Given the description of an element on the screen output the (x, y) to click on. 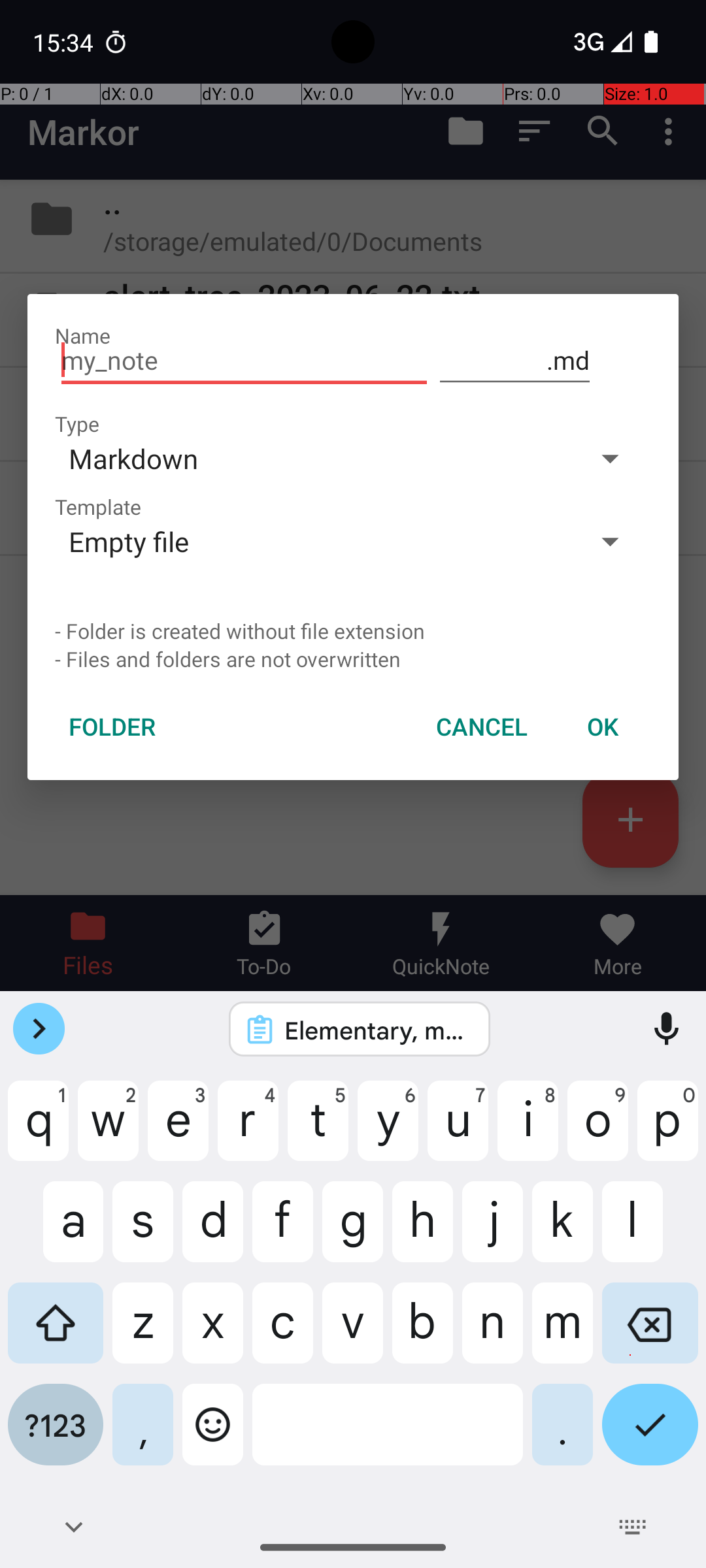
Elementary, my dear Watson. Element type: android.widget.TextView (376, 1029)
